Given the description of an element on the screen output the (x, y) to click on. 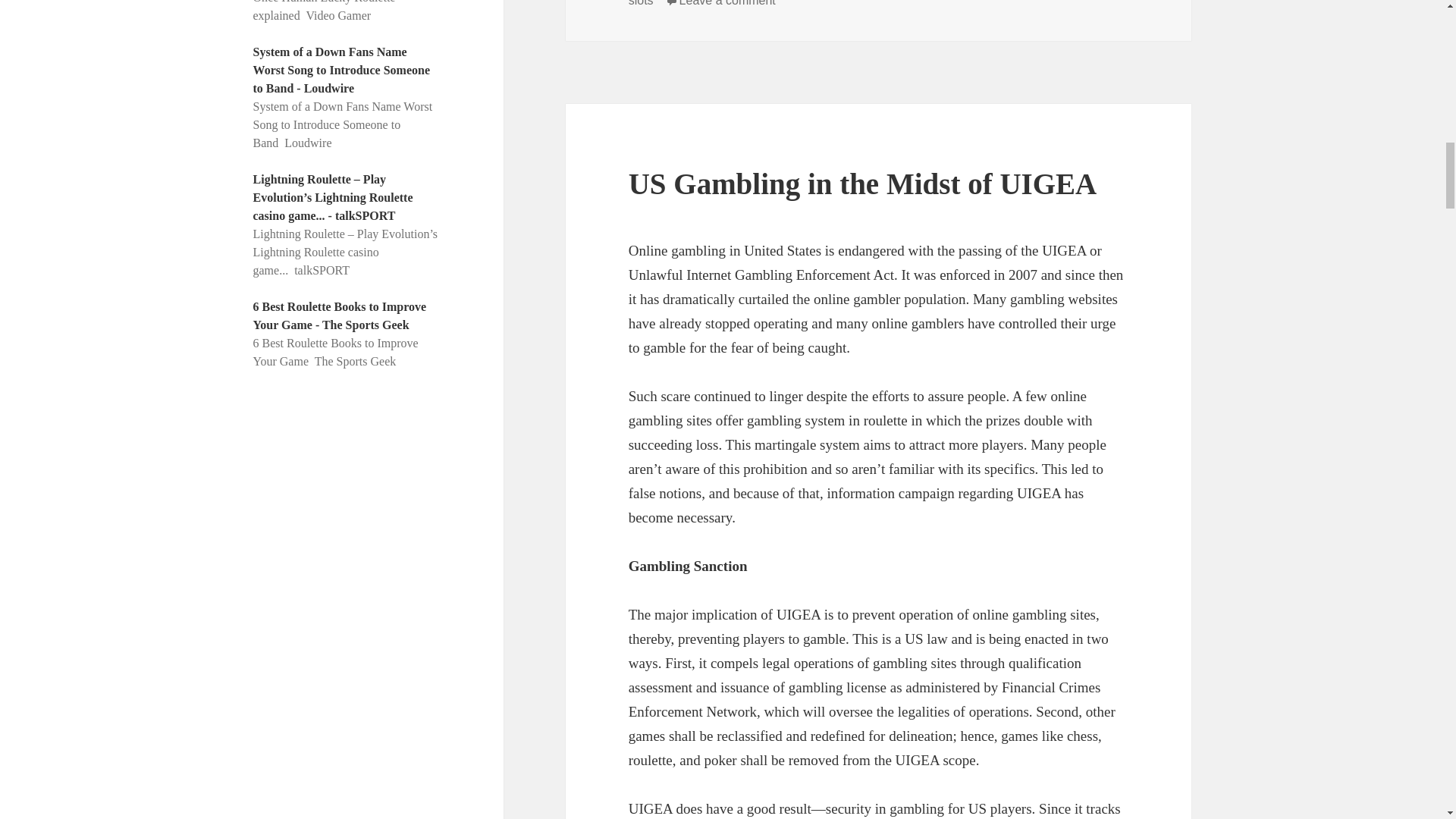
US Gambling in the Midst of UIGEA (862, 183)
slots (640, 3)
6 Best Roulette Books to Improve Your Game - The Sports Geek (339, 315)
Leave a comment (727, 3)
